Given the description of an element on the screen output the (x, y) to click on. 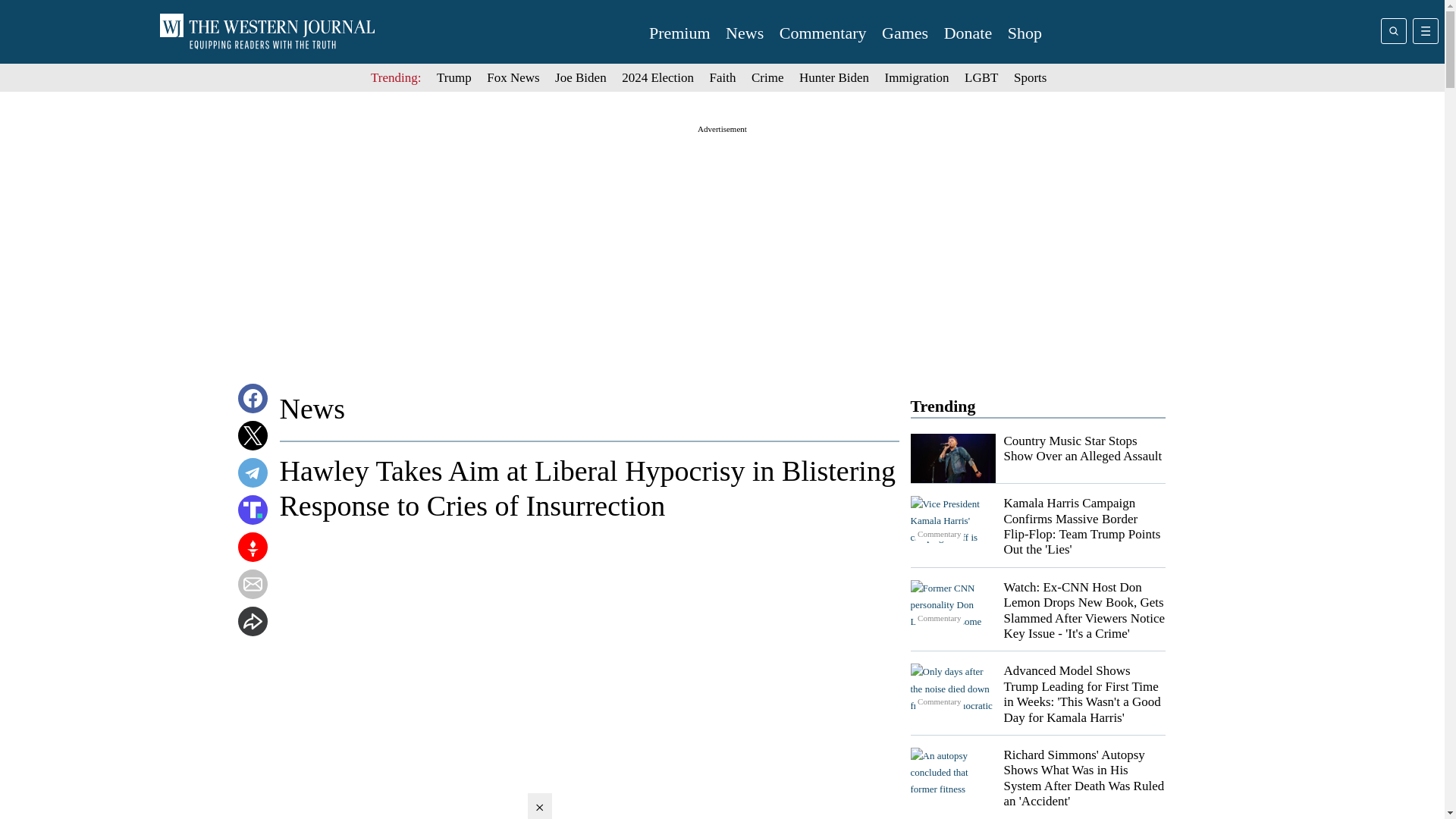
Commentary (952, 604)
Games (905, 32)
Shop (1024, 32)
Commentary (952, 521)
Commentary (822, 32)
Fox News (512, 77)
Commentary (952, 688)
Country Music Star Stops Show Over an Alleged Assault (1082, 448)
Sports (1029, 77)
